Given the description of an element on the screen output the (x, y) to click on. 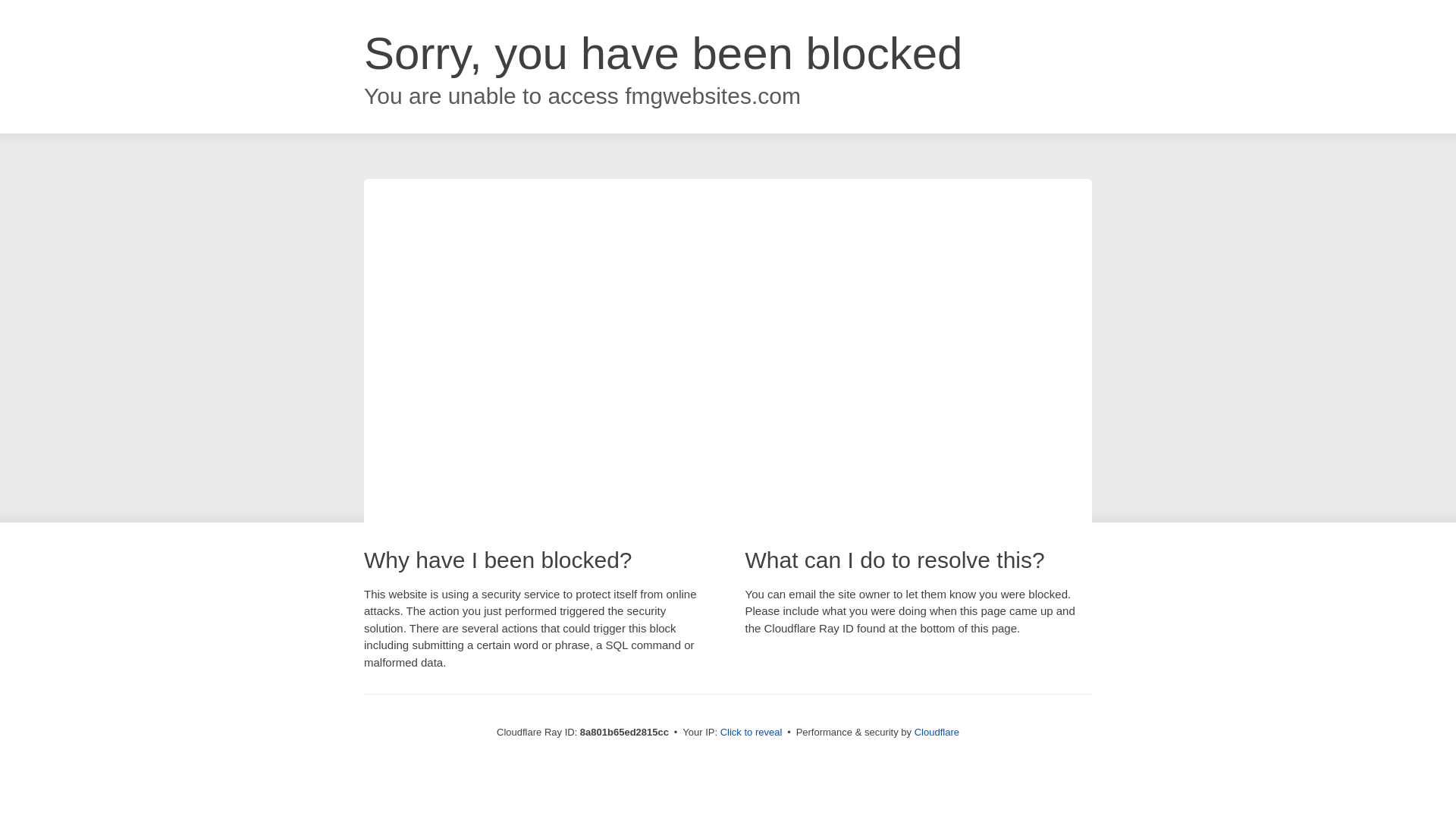
Click to reveal (751, 732)
Cloudflare (936, 731)
